Given the description of an element on the screen output the (x, y) to click on. 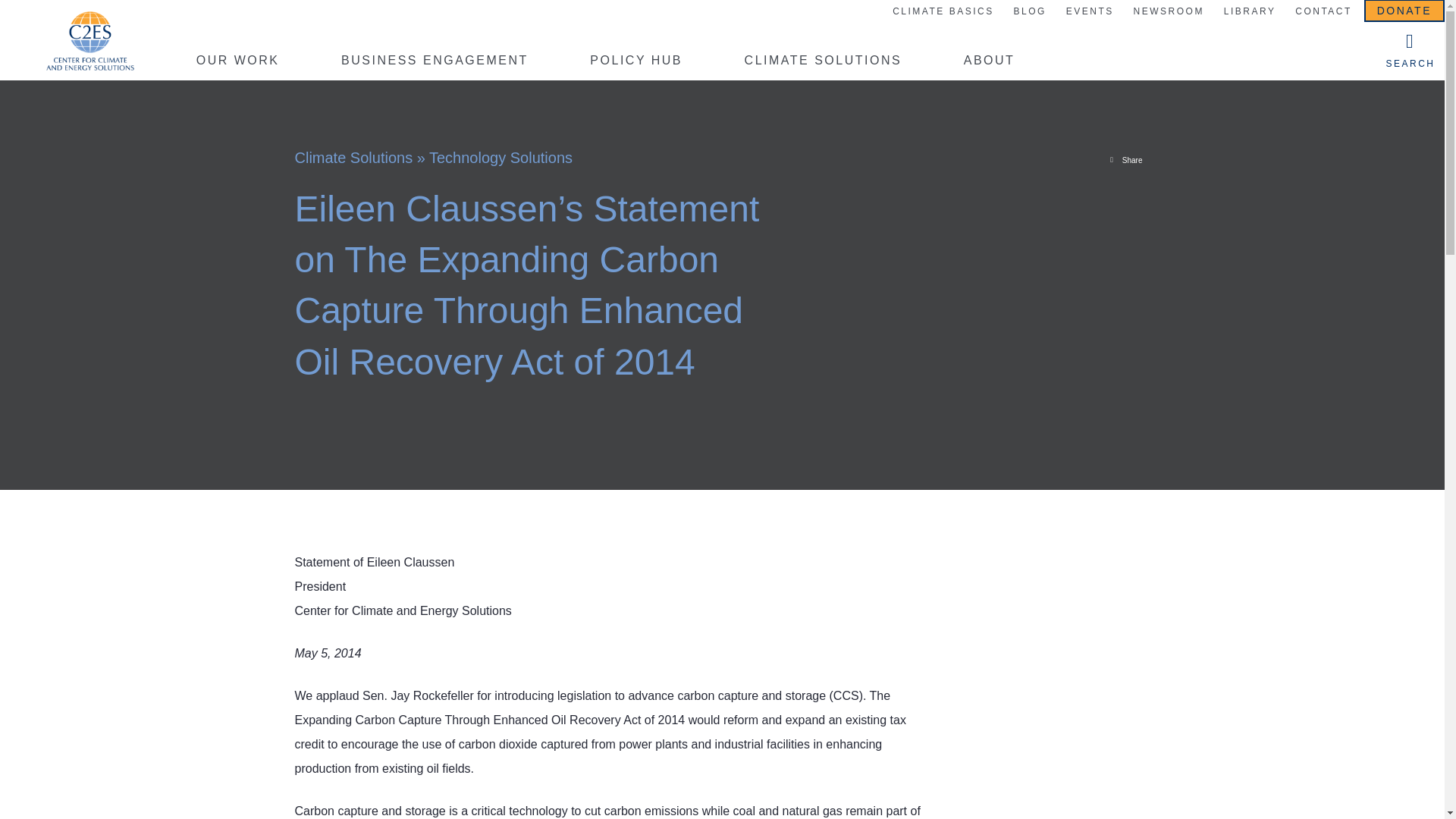
EVENTS (1089, 11)
CLIMATE SOLUTIONS (823, 63)
BUSINESS ENGAGEMENT (434, 63)
SEARCH (1410, 49)
LIBRARY (1249, 11)
POLICY HUB (635, 63)
ABOUT (988, 63)
NEWSROOM (1168, 11)
CLIMATE BASICS (943, 11)
CONTACT (1323, 11)
BLOG (1029, 11)
OUR WORK (237, 63)
